Given the description of an element on the screen output the (x, y) to click on. 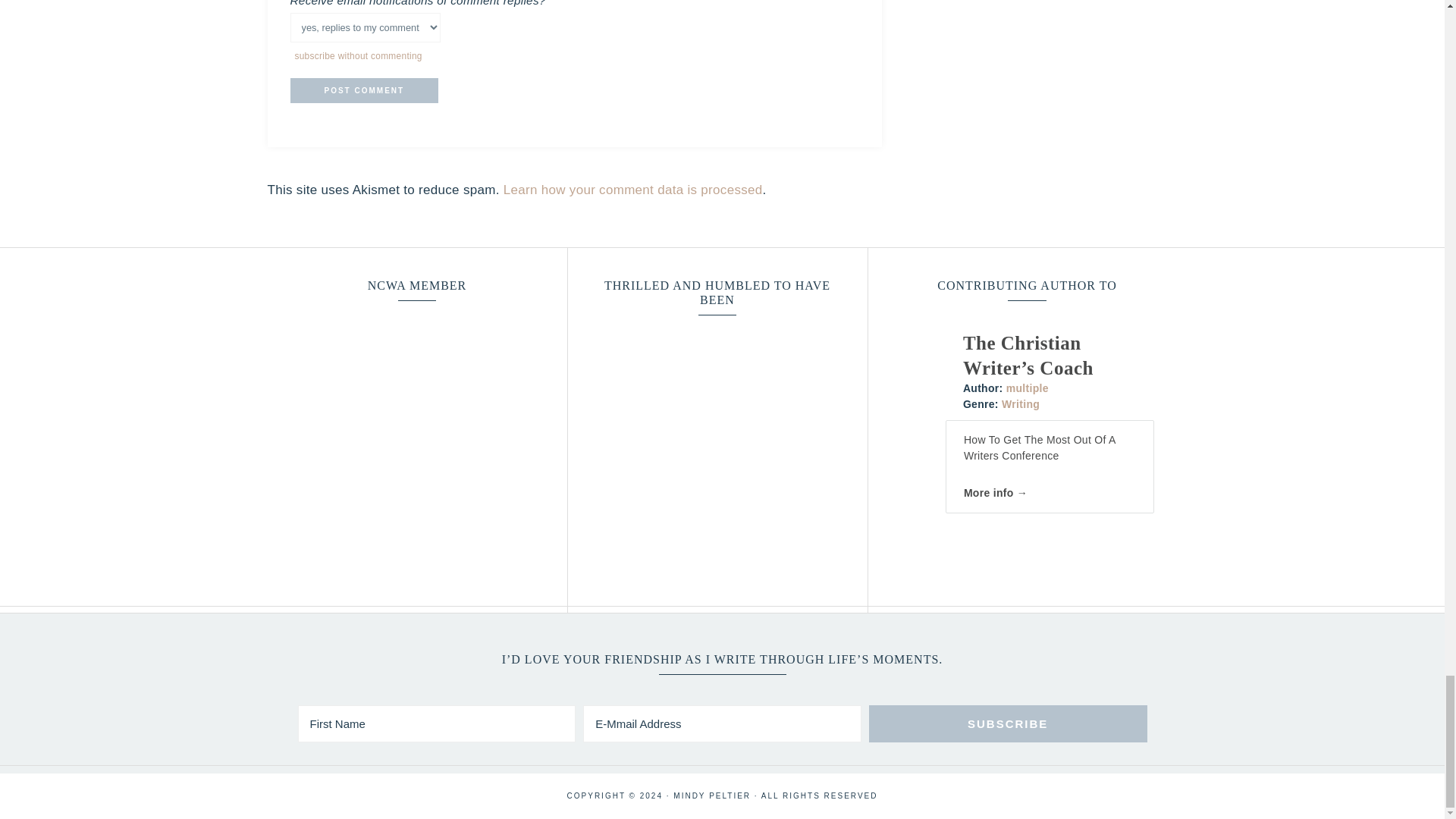
NCWA Member (416, 399)
Post Comment (363, 90)
Subscribe (1008, 723)
Post Comment (363, 90)
Learn how your comment data is processed (632, 189)
Receive Notifications? (364, 27)
subscribe without commenting (358, 55)
